Given the description of an element on the screen output the (x, y) to click on. 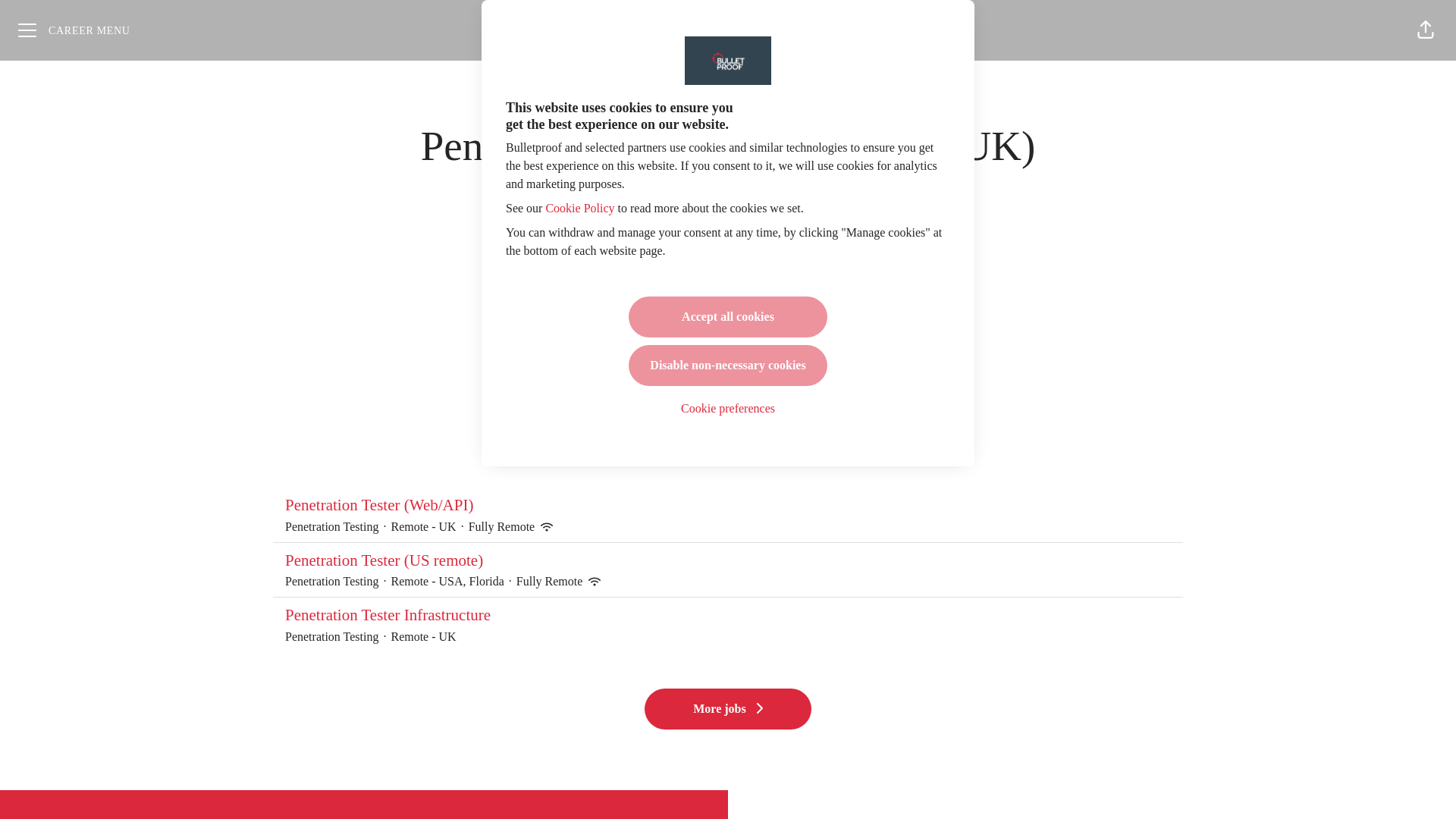
Accept all cookies (727, 316)
Share page (1426, 30)
CAREER MENU (73, 30)
Penetration Tester Infrastructure (727, 615)
Cookie Policy (579, 207)
Career menu (73, 30)
More jobs (727, 708)
Disable non-necessary cookies (727, 364)
Cookie preferences (727, 408)
